Given the description of an element on the screen output the (x, y) to click on. 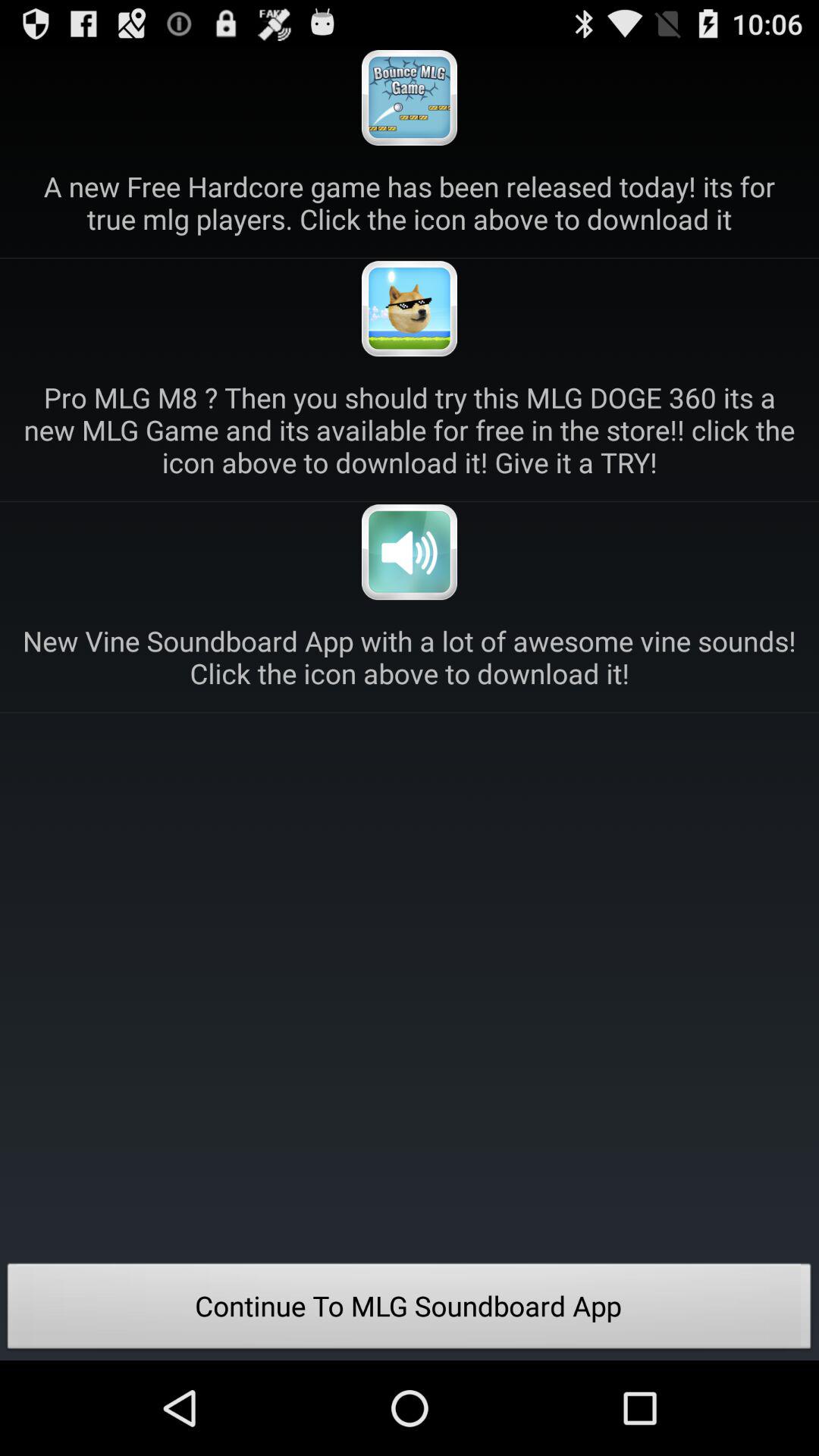
launch the pro mlg m8 icon (409, 429)
